Given the description of an element on the screen output the (x, y) to click on. 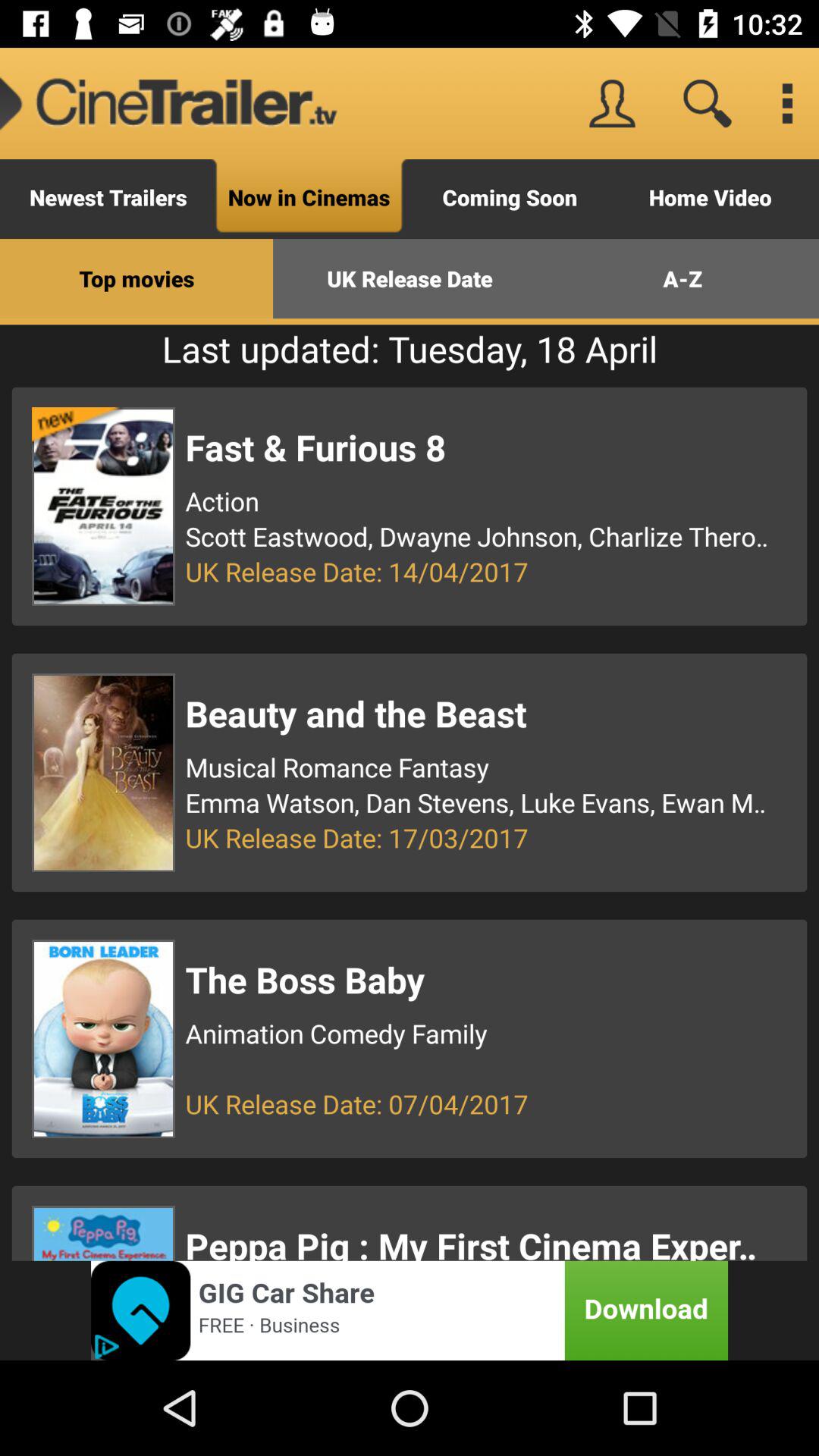
pop up advertisement (409, 1310)
